Given the description of an element on the screen output the (x, y) to click on. 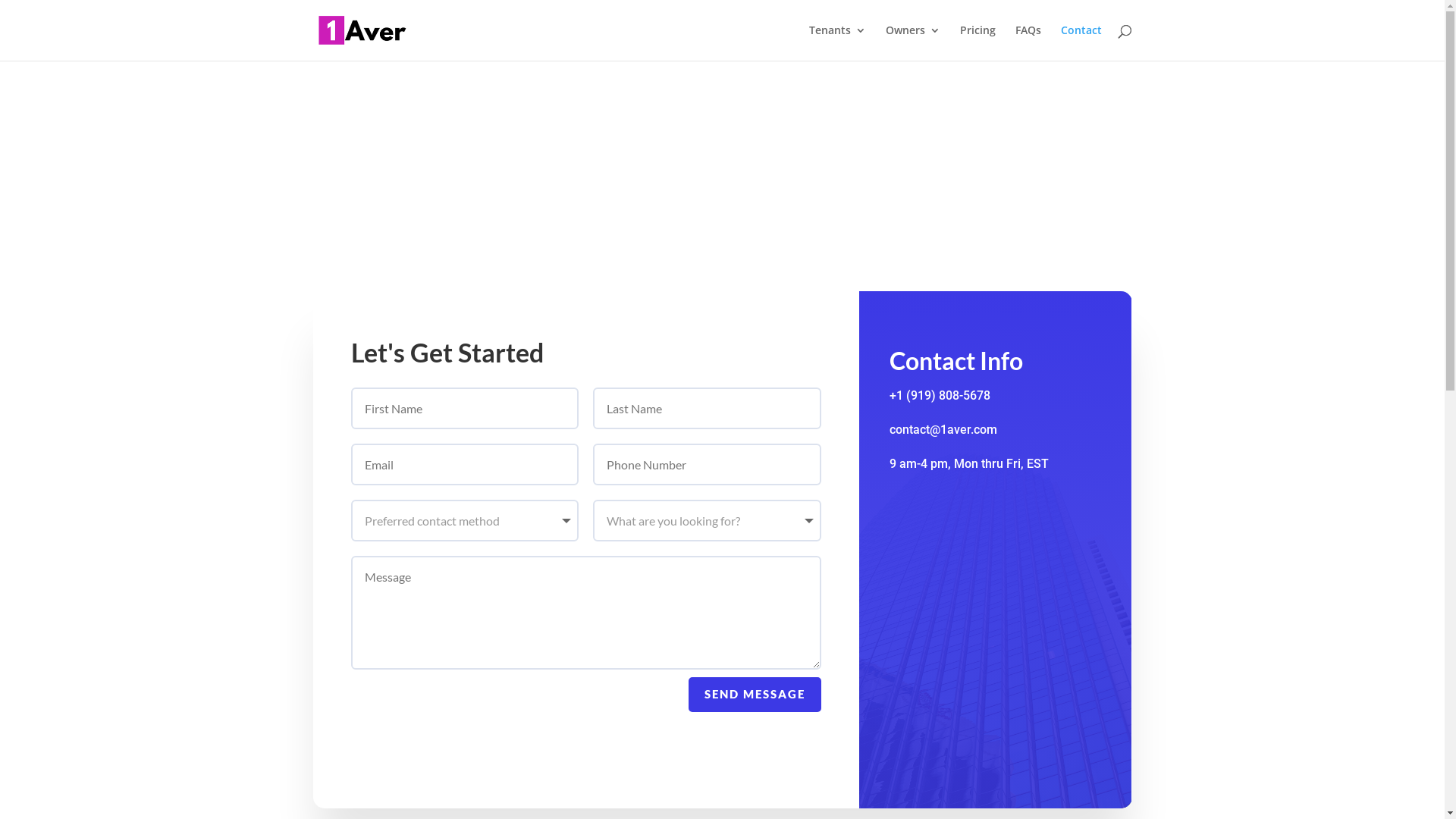
Owners Element type: text (912, 42)
Pricing Element type: text (977, 42)
Only numbers allowed. Element type: hover (706, 464)
SEND MESSAGE Element type: text (754, 694)
Contact Element type: text (1080, 42)
Tenants Element type: text (836, 42)
FAQs Element type: text (1027, 42)
